Given the description of an element on the screen output the (x, y) to click on. 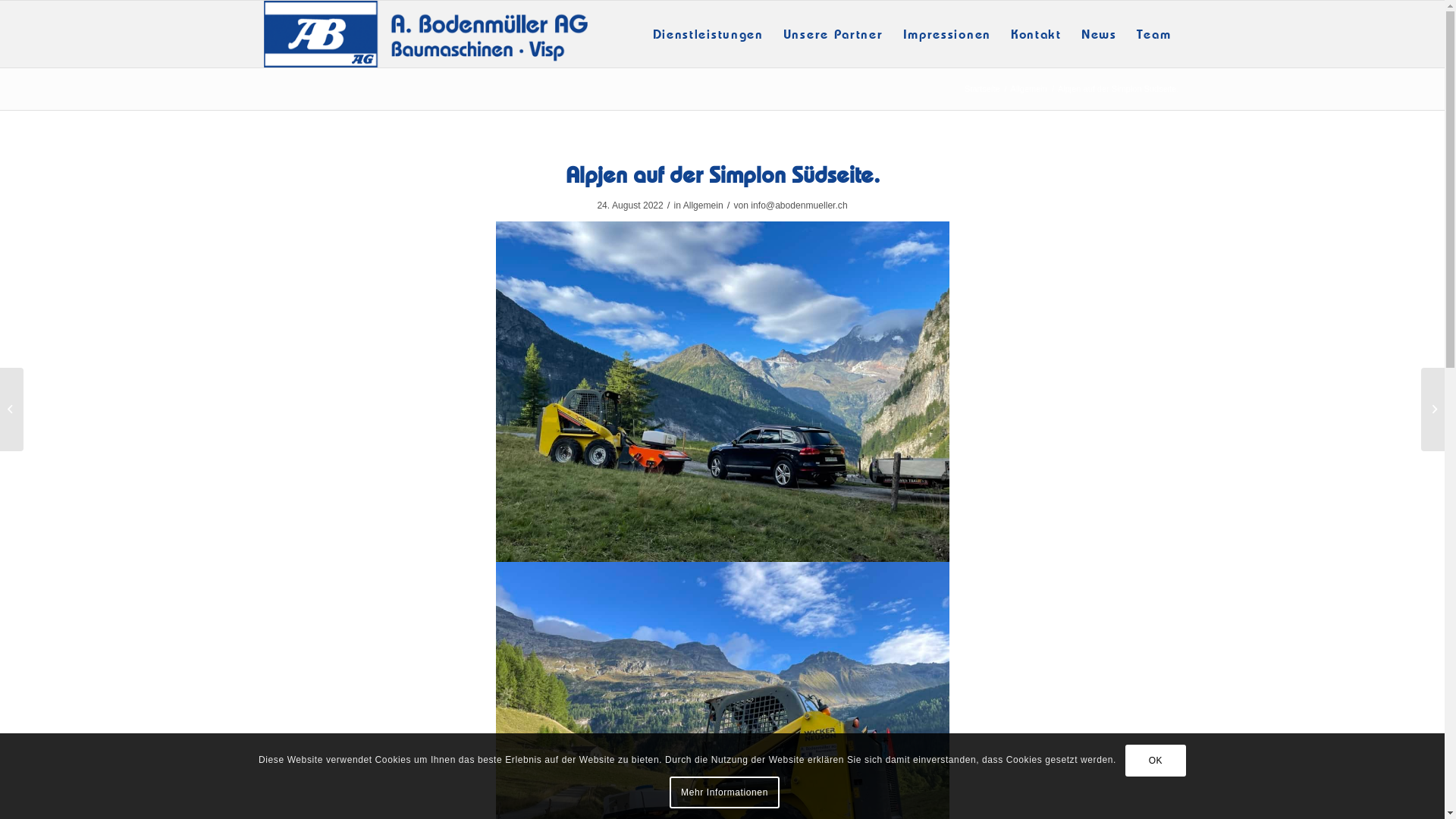
Allgemein Element type: text (703, 205)
Allgemein Element type: text (1028, 88)
Team Element type: text (1153, 33)
Mehr Informationen Element type: text (724, 791)
logo Element type: hover (425, 33)
Kontakt Element type: text (1036, 33)
Startseite Element type: text (981, 88)
OK Element type: text (1155, 759)
info@abodenmueller.ch Element type: text (798, 205)
News Element type: text (1098, 33)
Unsere Partner Element type: text (833, 33)
Impressionen Element type: text (947, 33)
Dienstleistungen Element type: text (708, 33)
